Given the description of an element on the screen output the (x, y) to click on. 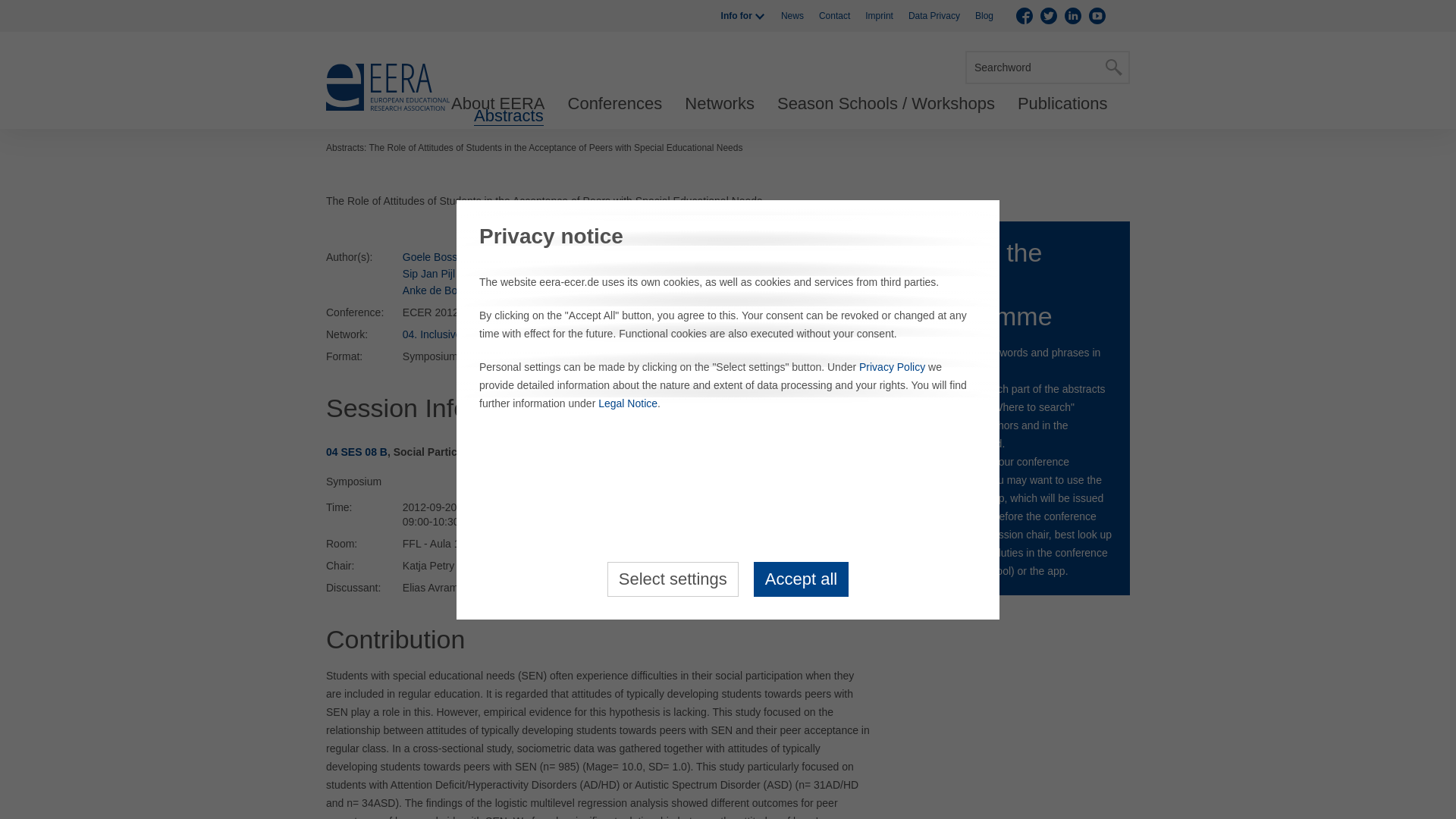
Privacy Policy (891, 367)
Accept all (801, 578)
Blog (984, 15)
Imprint (879, 15)
News (791, 15)
RSS (1121, 15)
Twitter (1049, 15)
About EERA (497, 103)
Select settings (672, 578)
Linkedin (1072, 15)
Search (1113, 67)
Legal Notice (628, 403)
Facebook (1024, 15)
YouTube (1097, 15)
Privacy Policy (891, 367)
